Given the description of an element on the screen output the (x, y) to click on. 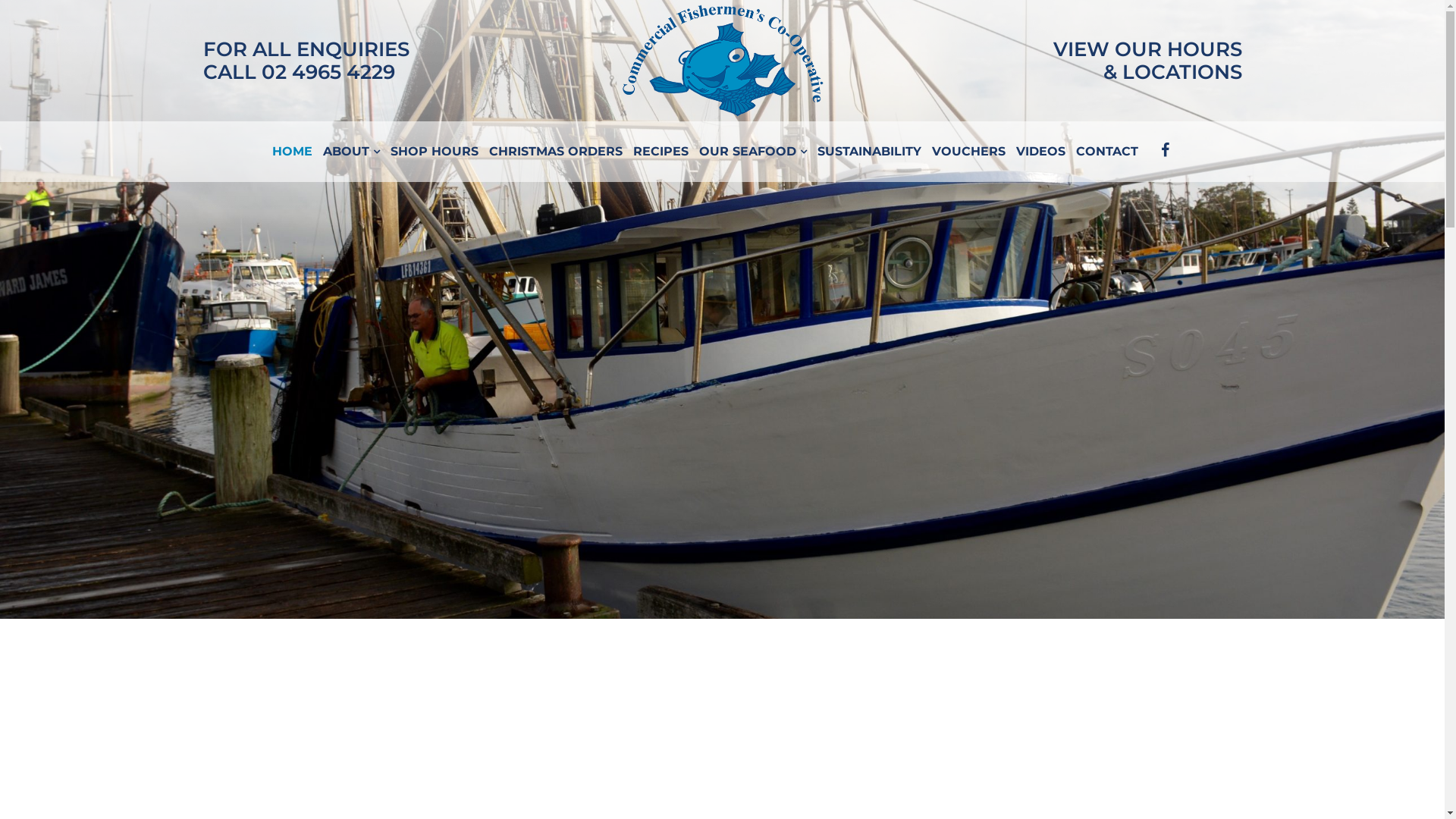
CHRISTMAS ORDERS Element type: text (555, 151)
HOME Element type: text (292, 151)
ABOUT Element type: text (351, 151)
02 4965 4229 Element type: text (327, 71)
OUR SEAFOOD Element type: text (752, 151)
VIDEOS Element type: text (1040, 151)
SHOP HOURS Element type: text (434, 151)
VIEW OUR HOURS
& LOCATIONS Element type: text (1146, 60)
SUSTAINABILITY Element type: text (869, 151)
VOUCHERS Element type: text (968, 151)
CONTACT Element type: text (1107, 151)
RECIPES Element type: text (660, 151)
